Given the description of an element on the screen output the (x, y) to click on. 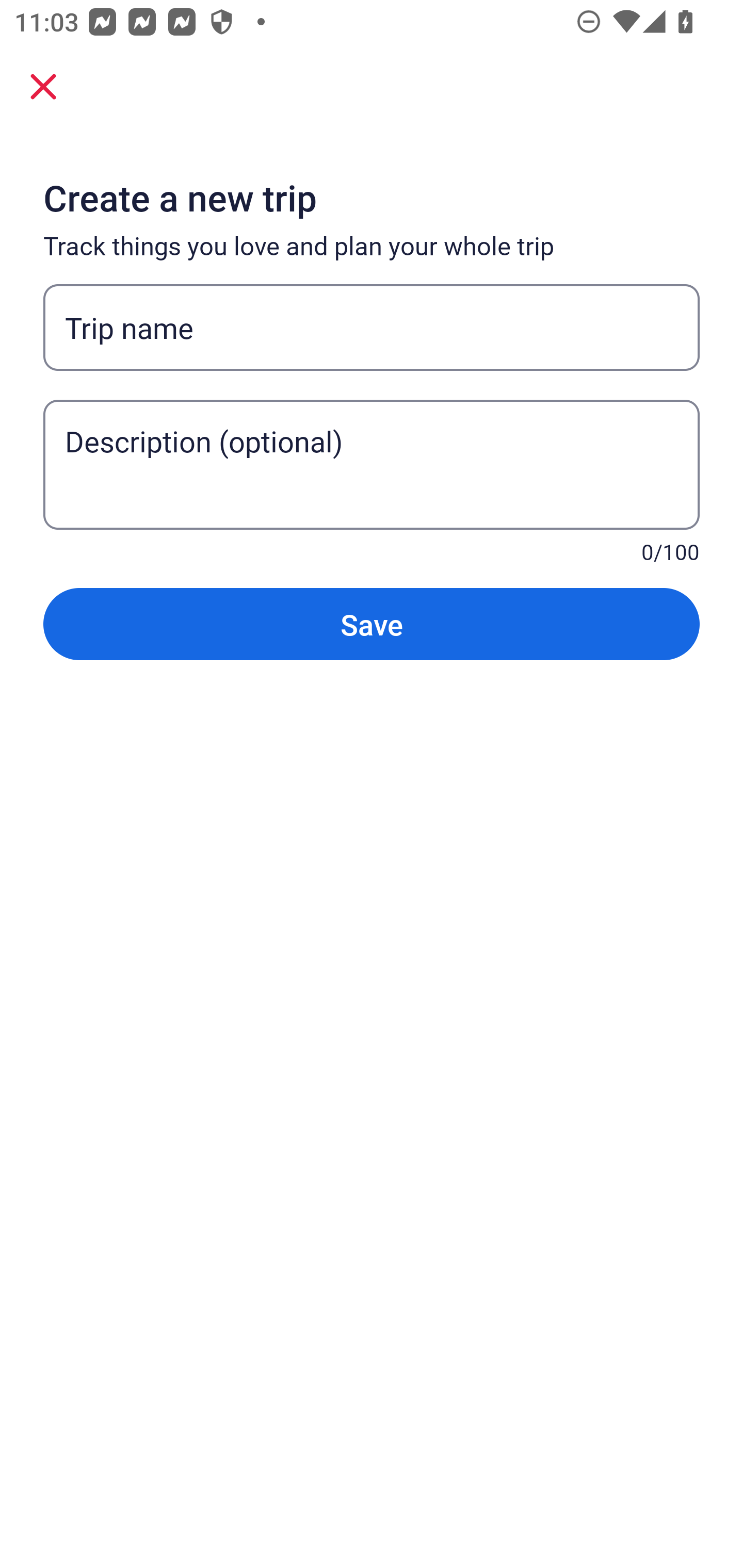
Close (43, 86)
Trip name (371, 327)
Save Button Save (371, 624)
